Given the description of an element on the screen output the (x, y) to click on. 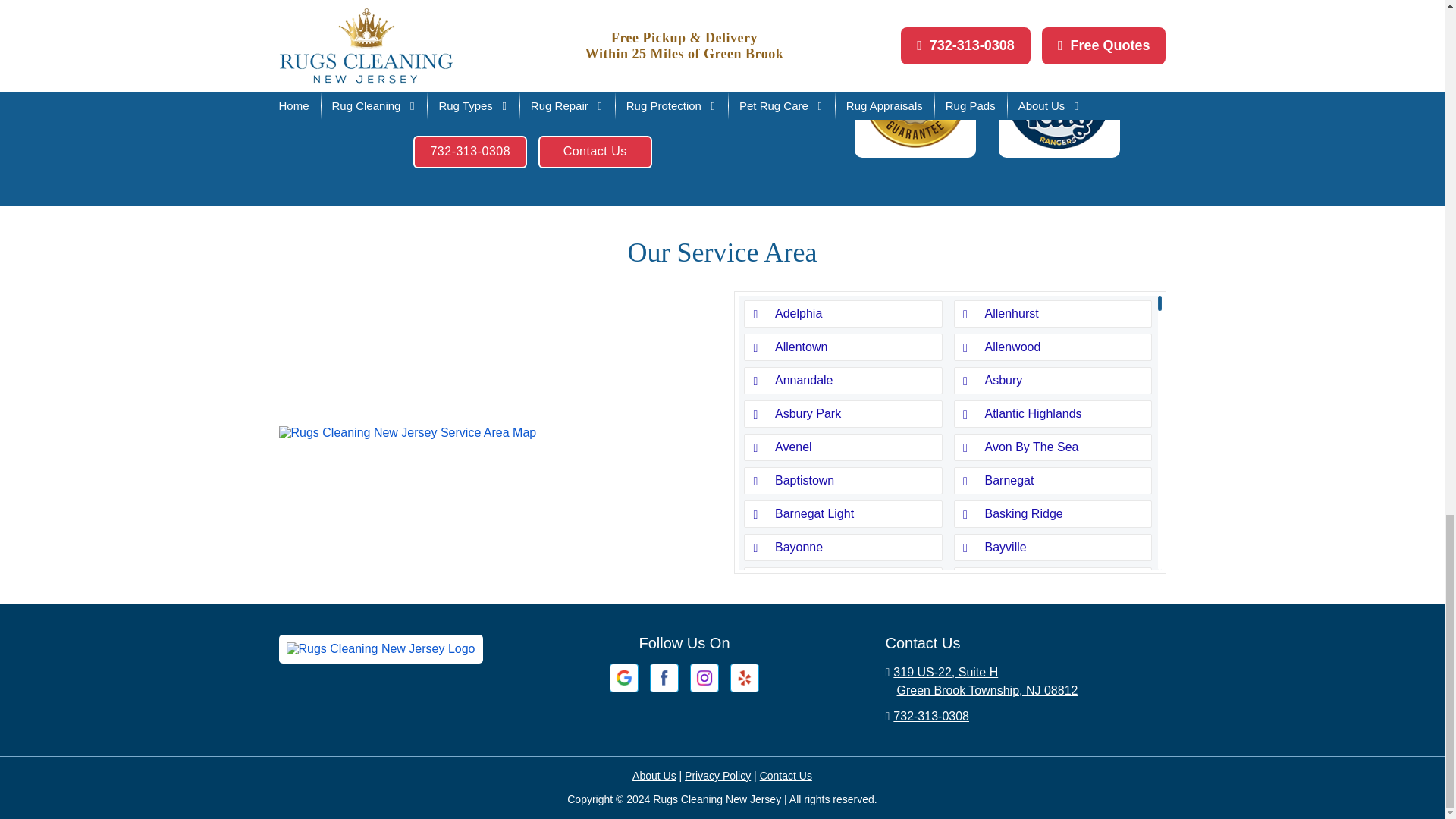
View Google (624, 676)
View Yelp (744, 676)
View Instagram (704, 676)
View Facebook (663, 676)
